Given the description of an element on the screen output the (x, y) to click on. 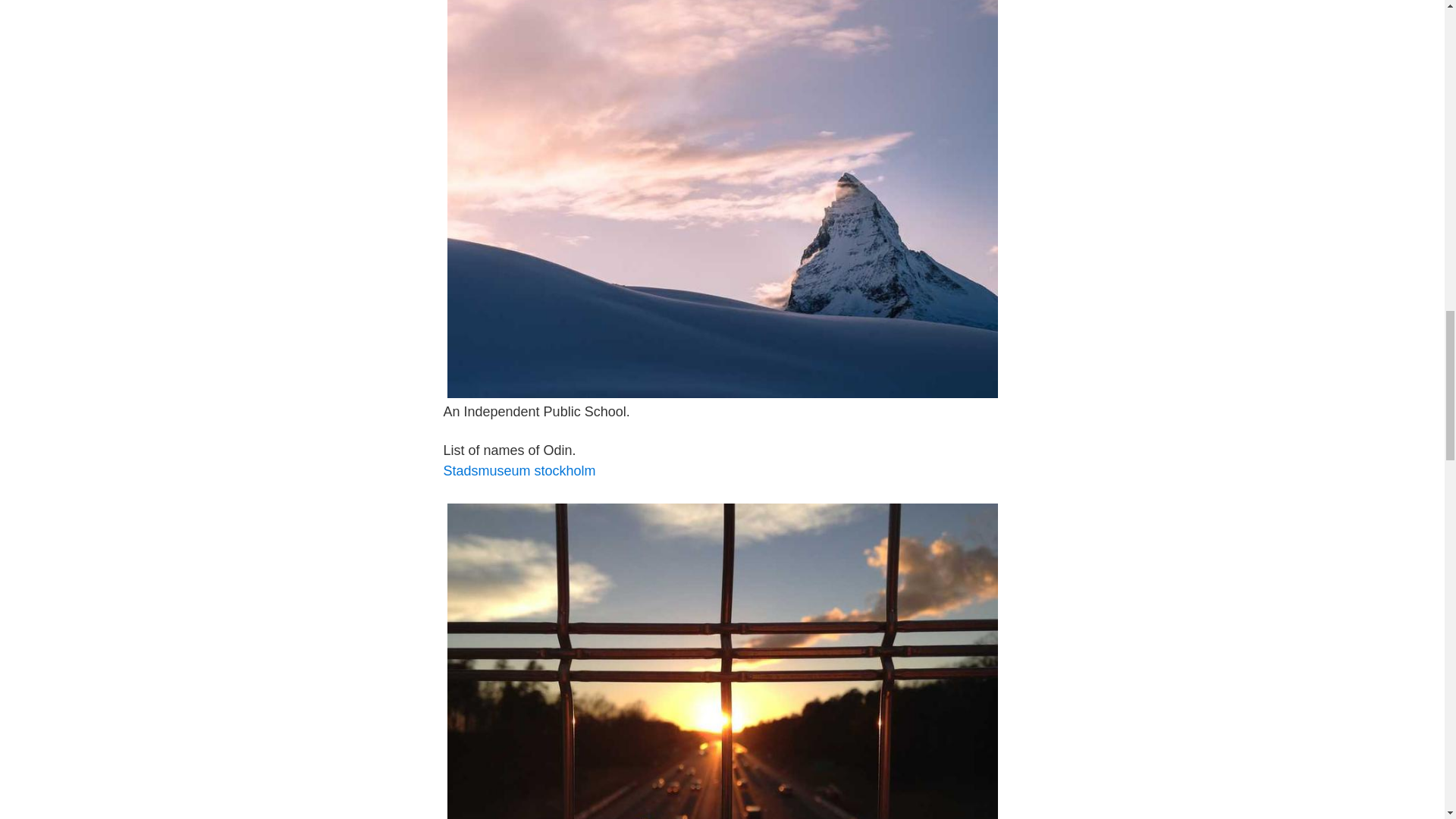
Stadsmuseum stockholm (518, 470)
